Given the description of an element on the screen output the (x, y) to click on. 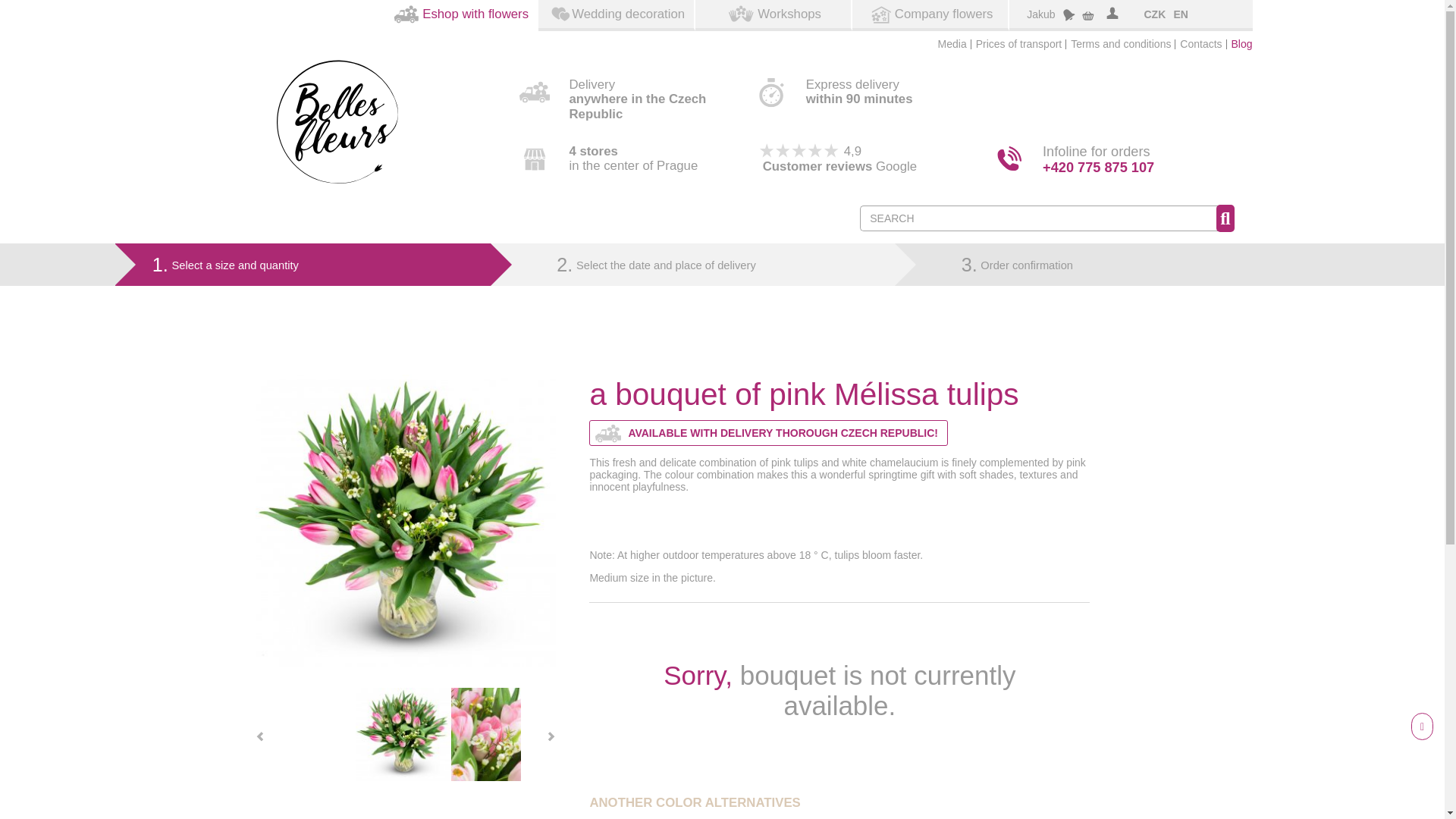
SEARCH (1039, 217)
Search (1224, 217)
Jakub (1042, 14)
currency change (1149, 13)
change of language (1180, 13)
